Given the description of an element on the screen output the (x, y) to click on. 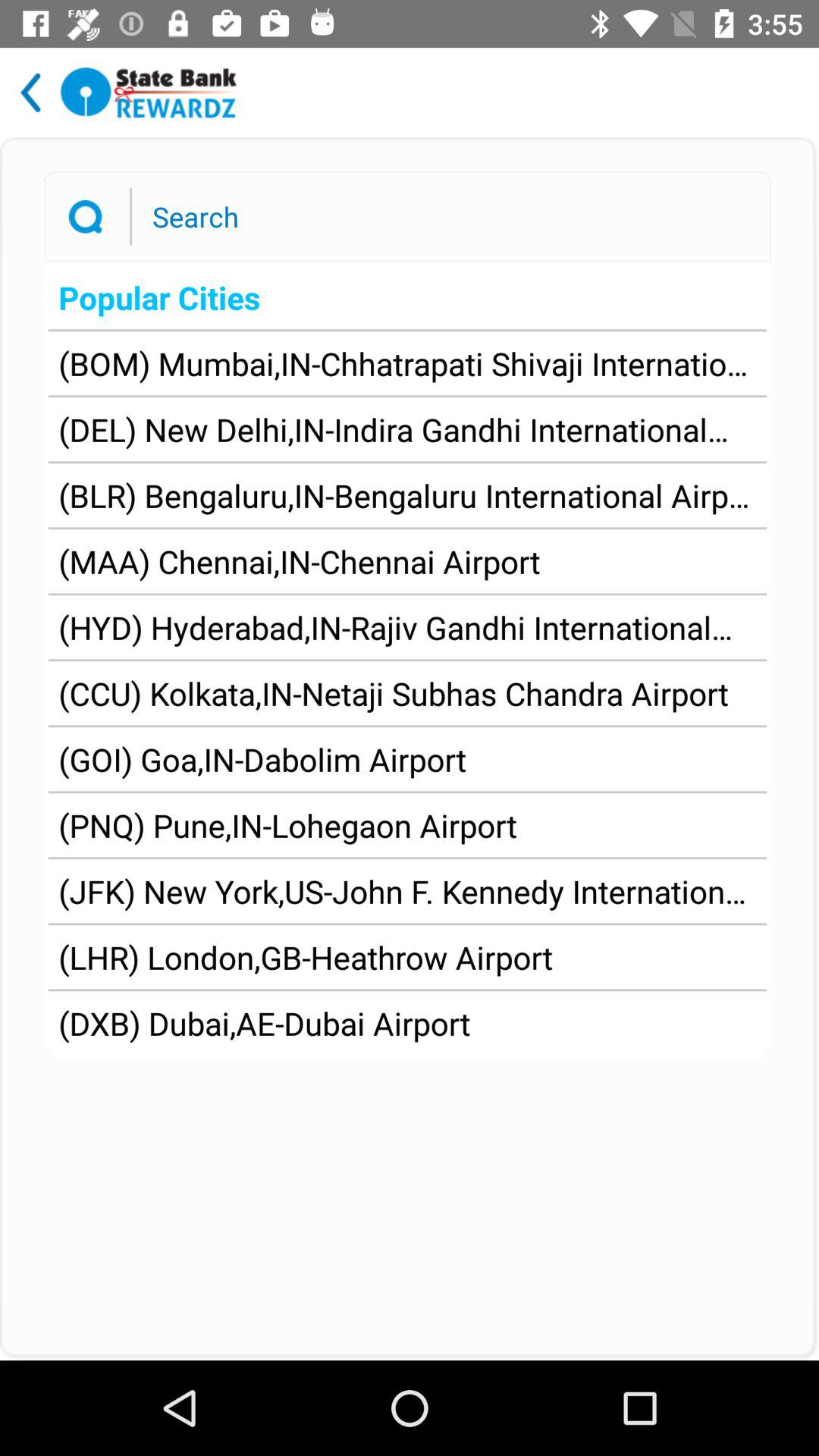
type in search terms (444, 216)
